Given the description of an element on the screen output the (x, y) to click on. 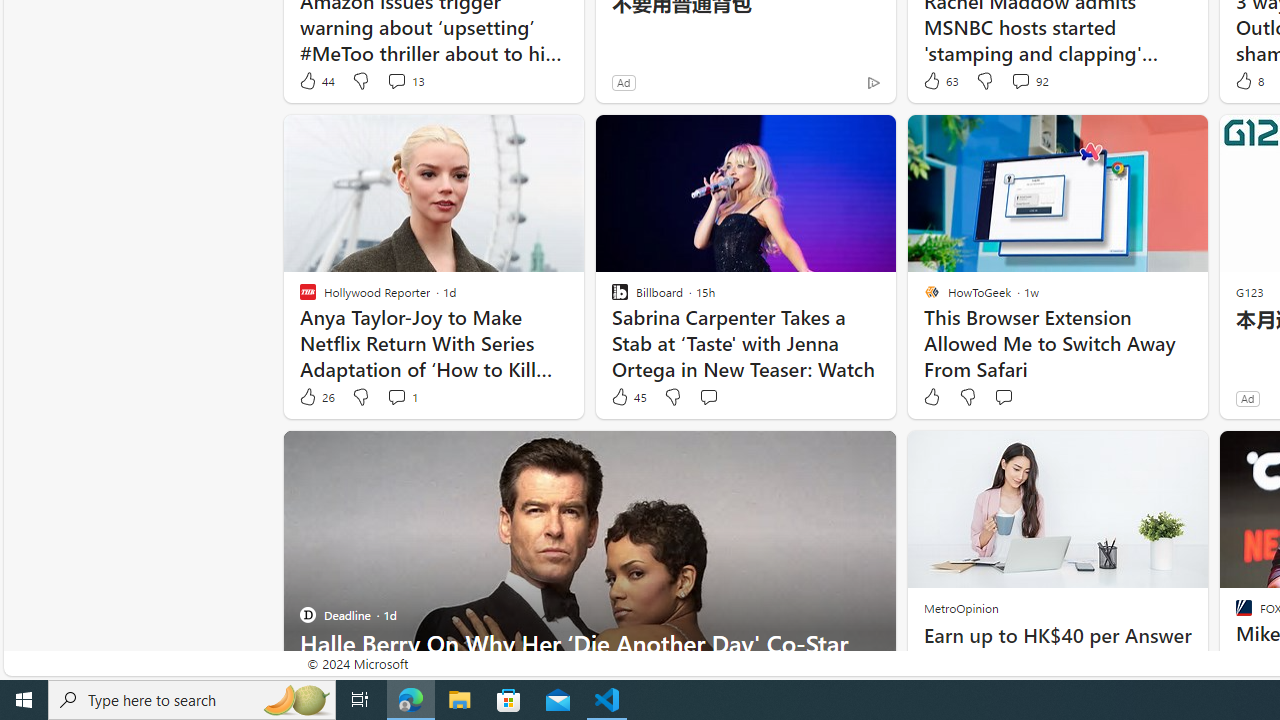
63 Like (939, 80)
View comments 13 Comment (404, 80)
Hide this story (835, 454)
26 Like (316, 397)
View comments 92 Comment (1019, 80)
45 Like (628, 397)
8 Like (1248, 80)
View comments 92 Comment (1029, 80)
